Given the description of an element on the screen output the (x, y) to click on. 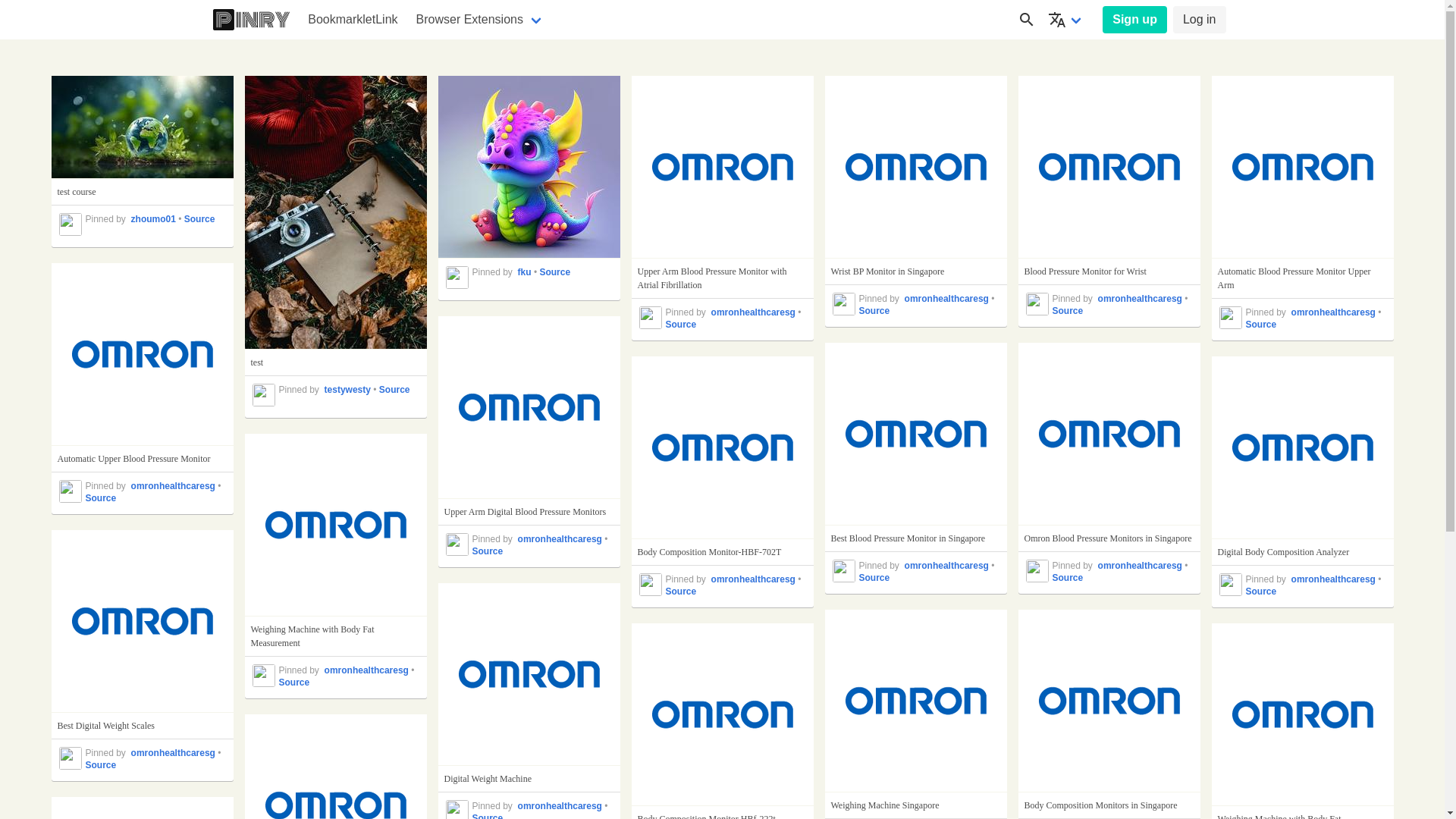
Source Element type: text (100, 497)
BookmarkletLink Element type: text (352, 19)
omronhealthcaresg Element type: text (754, 579)
Source Element type: text (1260, 591)
omronhealthcaresg Element type: text (367, 670)
testywesty Element type: text (348, 389)
Source Element type: text (873, 310)
omronhealthcaresg Element type: text (561, 538)
omronhealthcaresg Element type: text (1141, 298)
Source Element type: text (199, 218)
fku Element type: text (525, 271)
Source Element type: text (100, 764)
Source Element type: text (1067, 310)
omronhealthcaresg Element type: text (754, 312)
Sign up Element type: text (1134, 19)
omronhealthcaresg Element type: text (1141, 565)
omronhealthcaresg Element type: text (947, 298)
Source Element type: text (486, 551)
omronhealthcaresg Element type: text (1334, 579)
Source Element type: text (873, 577)
Source Element type: text (554, 271)
Source Element type: text (1067, 577)
Source Element type: text (294, 682)
Source Element type: text (394, 389)
omronhealthcaresg Element type: text (947, 565)
Log in Element type: text (1199, 19)
omronhealthcaresg Element type: text (174, 485)
Browser Extensions Element type: text (480, 19)
Source Element type: text (680, 324)
Source Element type: text (680, 591)
zhoumo01 Element type: text (154, 218)
omronhealthcaresg Element type: text (1334, 312)
omronhealthcaresg Element type: text (174, 752)
Source Element type: text (1260, 324)
omronhealthcaresg Element type: text (561, 805)
